Given the description of an element on the screen output the (x, y) to click on. 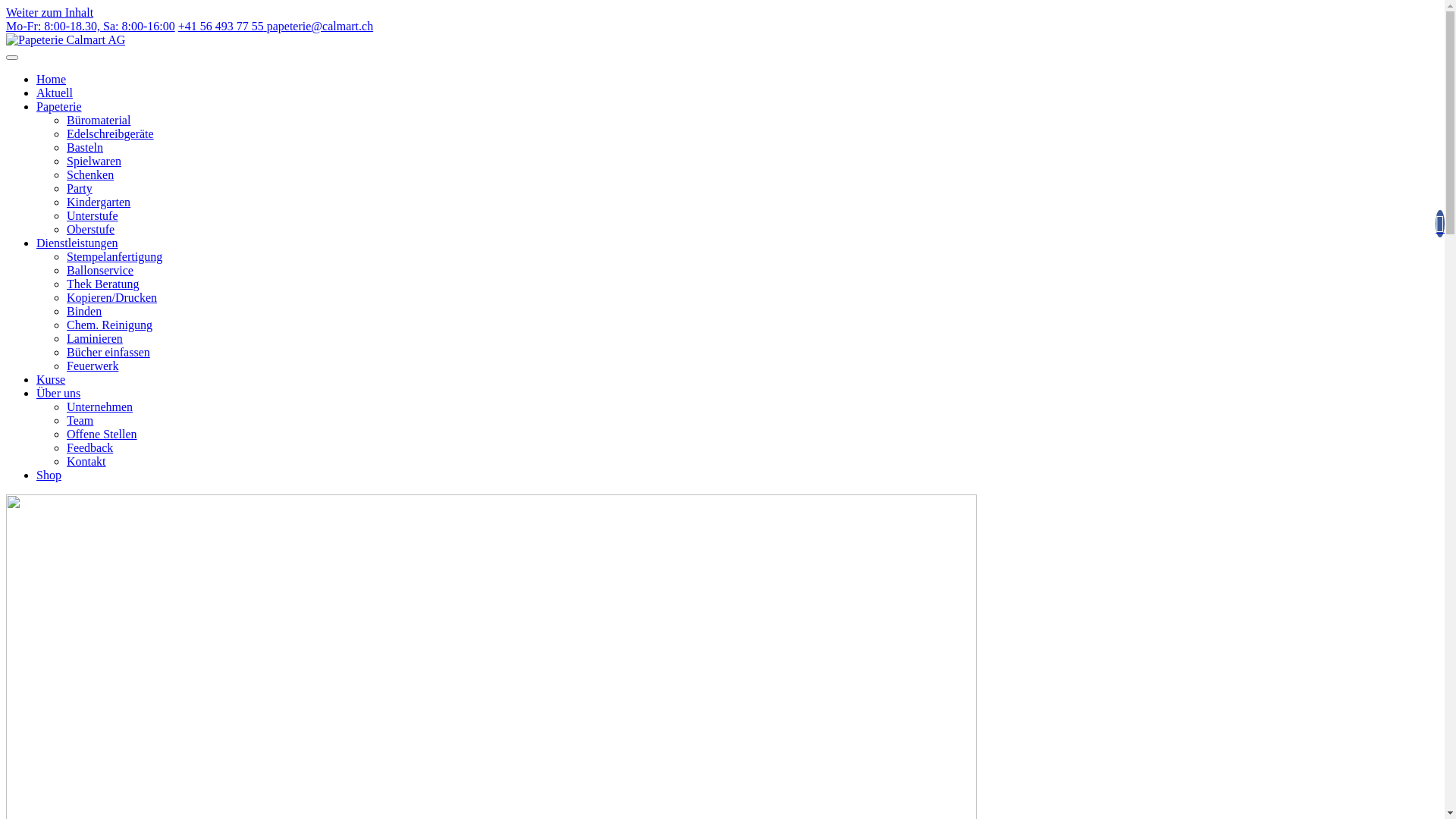
Feedback Element type: text (89, 447)
Laminieren Element type: text (94, 338)
Feuerwerk Element type: text (92, 365)
Mo-Fr: 8:00-18.30, Sa: 8:00-16:00 Element type: text (90, 25)
Stempelanfertigung Element type: text (114, 256)
Offene Stellen Element type: text (101, 433)
Weiter zum Inhalt Element type: text (49, 12)
+41 56 493 77 55 Element type: text (222, 25)
Aktuell Element type: text (54, 92)
Kopieren/Drucken Element type: text (111, 297)
Schenken Element type: text (89, 174)
Basteln Element type: text (84, 147)
Thek Beratung Element type: text (102, 283)
Party Element type: text (79, 188)
Oberstufe Element type: text (90, 228)
Binden Element type: text (83, 310)
Unternehmen Element type: text (99, 406)
Shop Element type: text (48, 474)
papeterie@calmart.ch Element type: text (319, 25)
Papeterie Element type: text (58, 106)
Kontakt Element type: text (86, 461)
Kurse Element type: text (50, 379)
Spielwaren Element type: text (93, 160)
Kindergarten Element type: text (98, 201)
Team Element type: text (79, 420)
Home Element type: text (50, 78)
Unterstufe Element type: text (92, 215)
Chem. Reinigung Element type: text (109, 324)
Dienstleistungen Element type: text (77, 242)
Ballonservice Element type: text (99, 269)
